Given the description of an element on the screen output the (x, y) to click on. 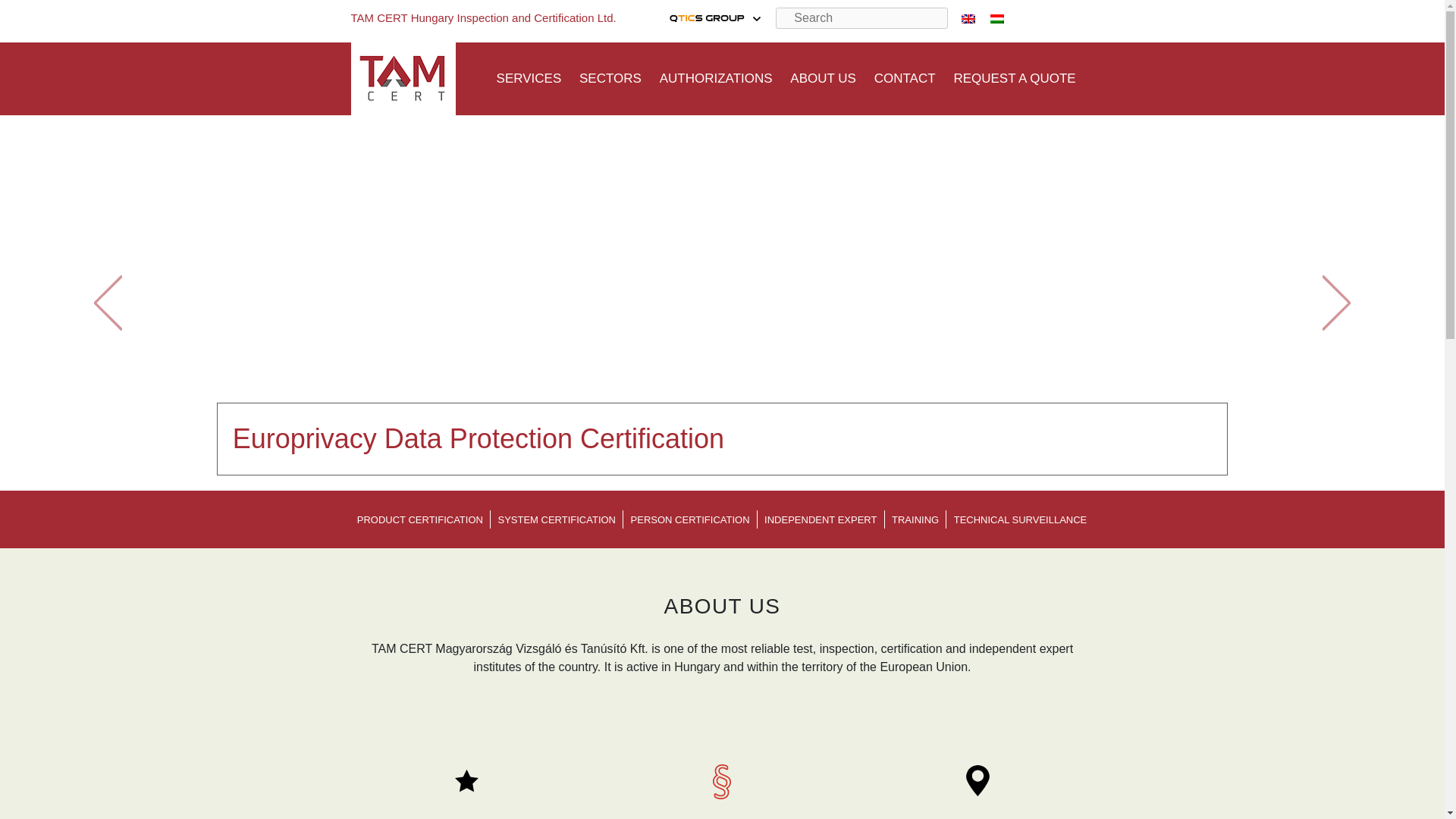
CONTACT (905, 78)
SYSTEM CERTIFICATION (556, 519)
AUTHORIZATIONS (716, 78)
PRODUCT CERTIFICATION (419, 519)
SECTORS (610, 78)
REQUEST A QUOTE (1014, 78)
Europrivacy Data Protection Certification (477, 438)
TRAINING (915, 519)
ABOUT US (823, 78)
INDEPENDENT EXPERT (820, 519)
SERVICES (529, 78)
TAM CERT (710, 18)
PERSON CERTIFICATION (689, 519)
TECHNICAL SURVEILLANCE (1020, 519)
